Given the description of an element on the screen output the (x, y) to click on. 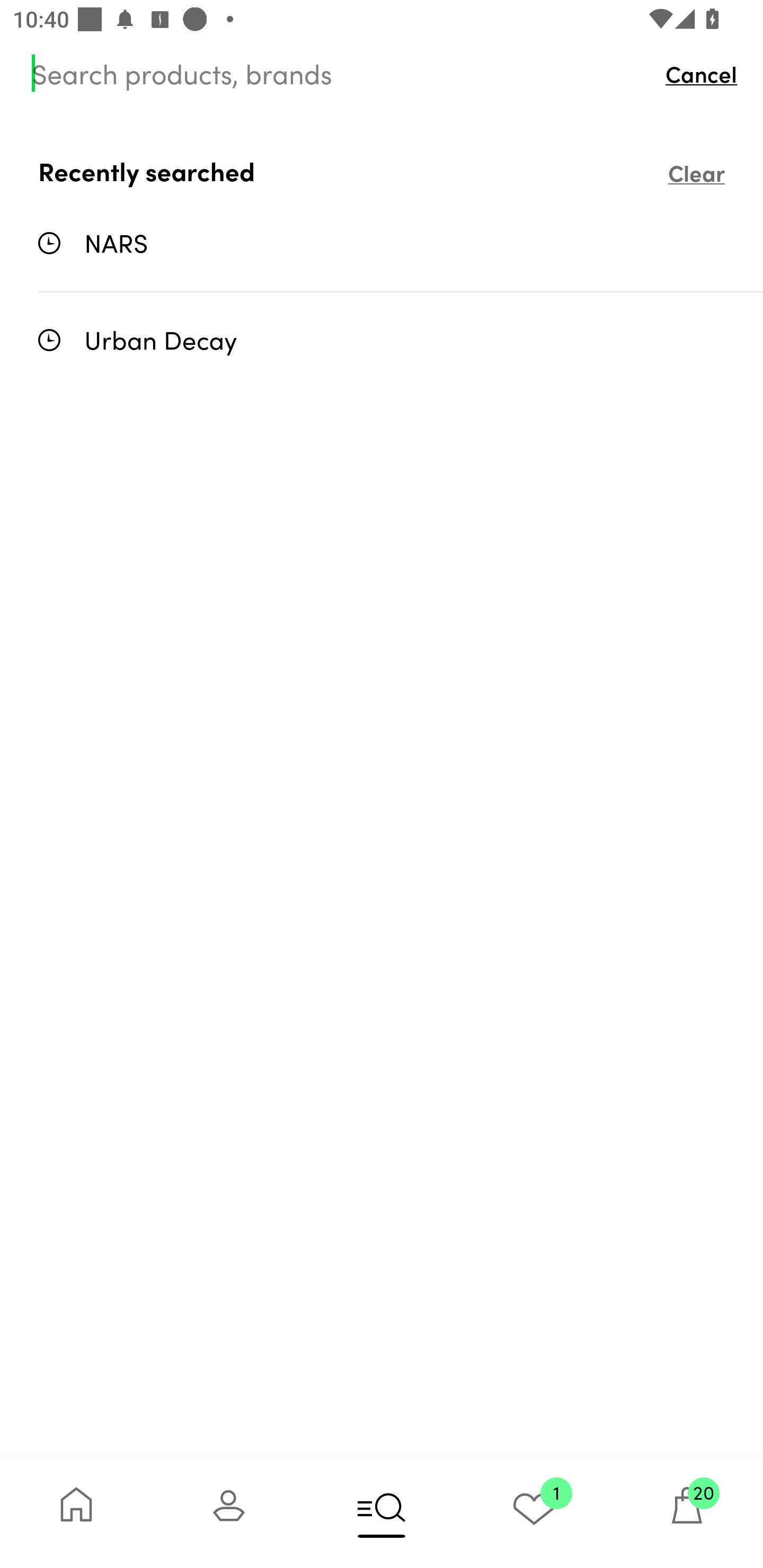
Cancel (706, 72)
Search products, brands (340, 72)
Clear (696, 171)
NARS (400, 243)
Urban Decay (400, 339)
1 (533, 1512)
20 (686, 1512)
